Given the description of an element on the screen output the (x, y) to click on. 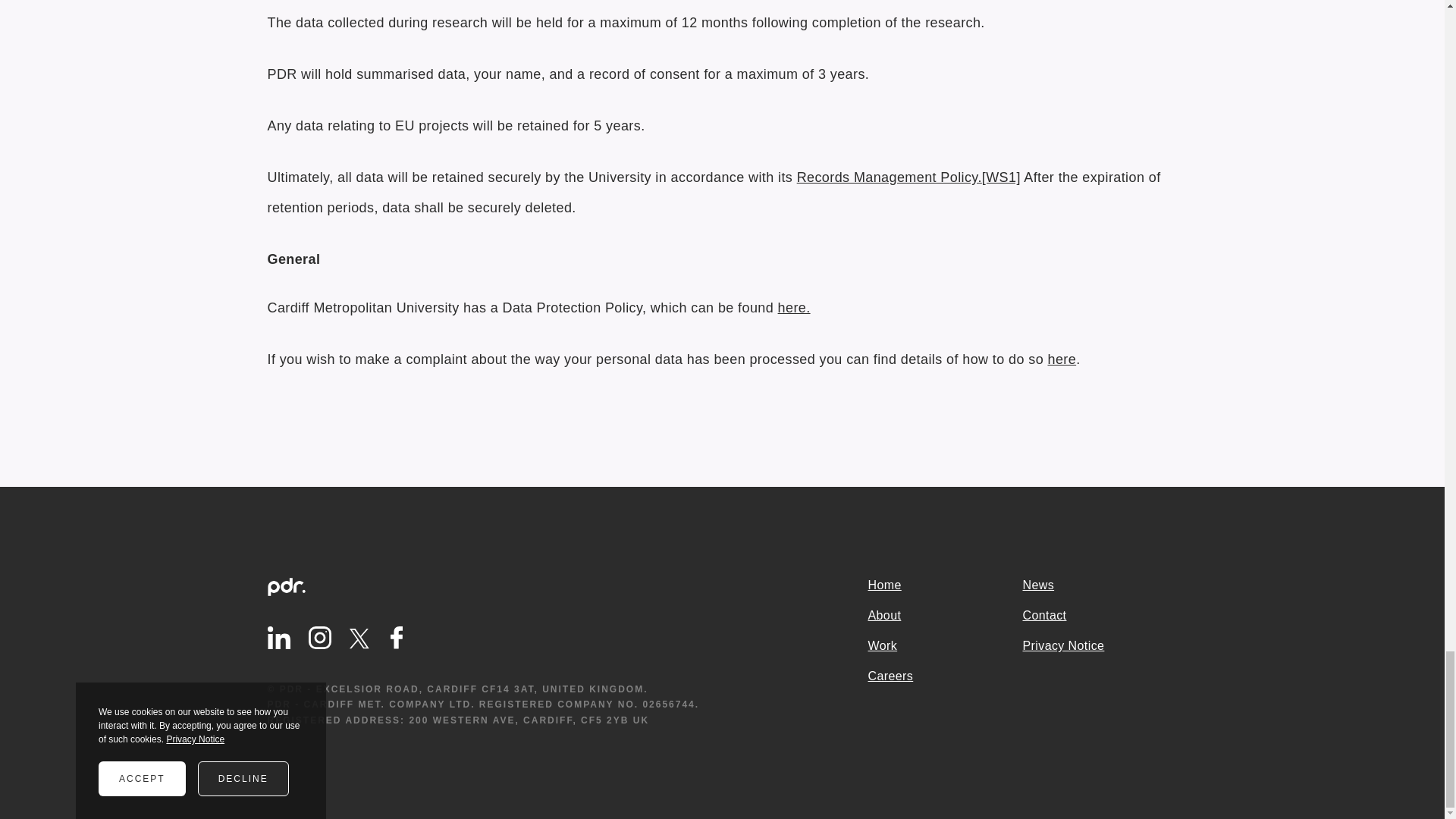
here. (793, 307)
Home (944, 585)
About (944, 615)
here (1062, 359)
Records Management Policy. (888, 177)
Work (944, 645)
Careers (944, 676)
